Given the description of an element on the screen output the (x, y) to click on. 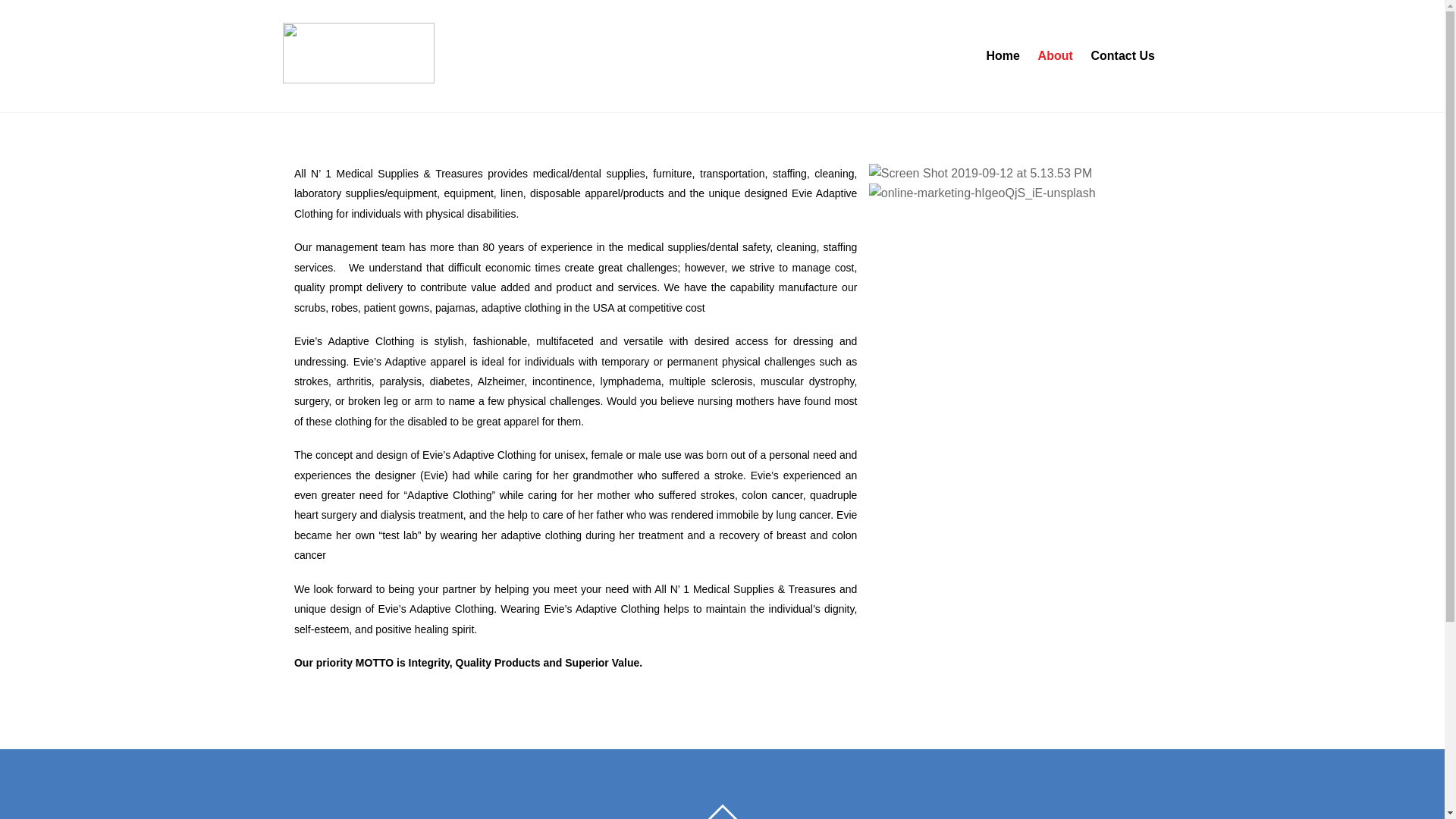
Home (1002, 55)
Contact Us (1122, 55)
About (1055, 55)
